Given the description of an element on the screen output the (x, y) to click on. 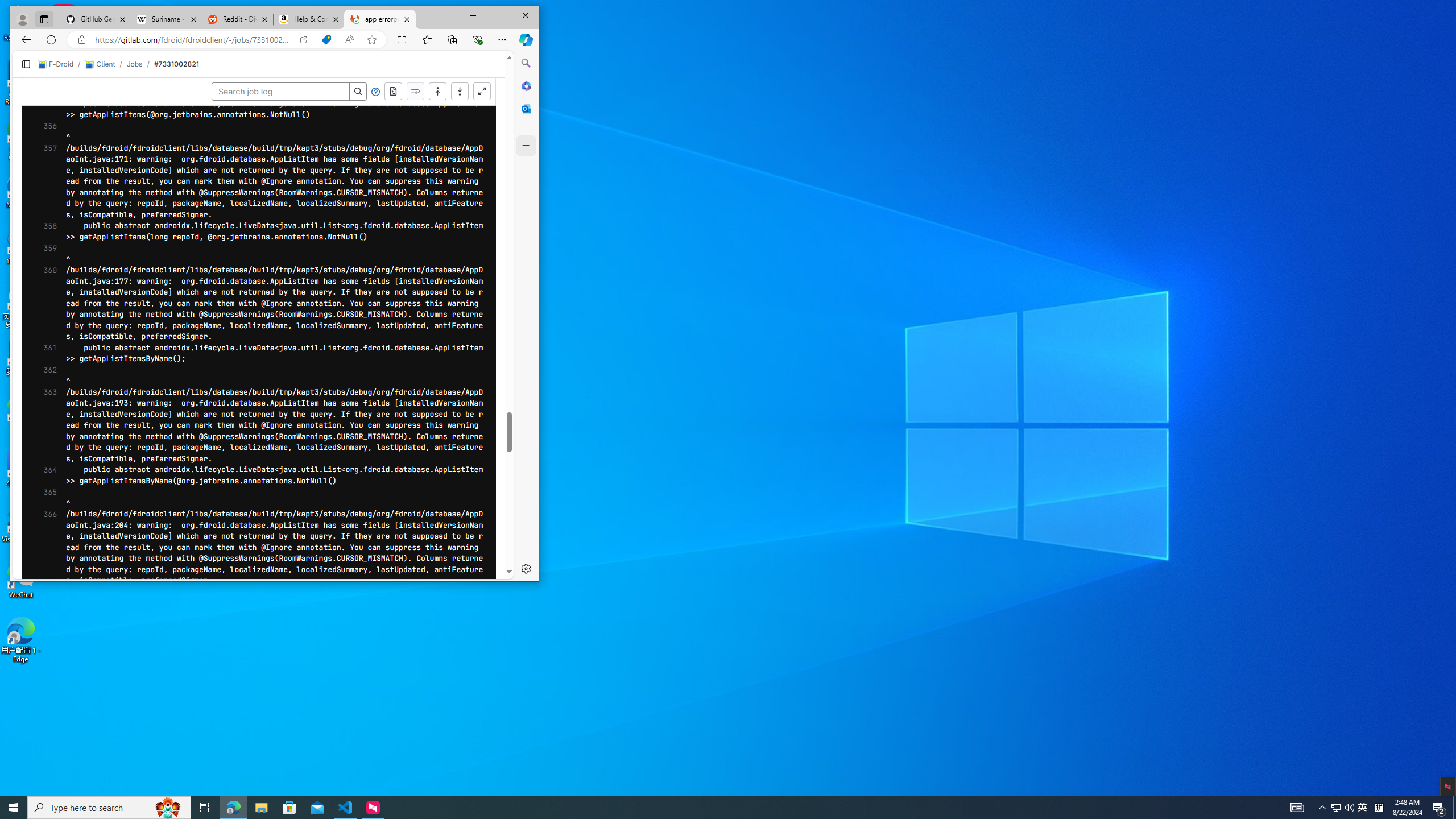
File Explorer (261, 807)
#7331002821 (300, 53)
Open in app (1220, 29)
402 (41, 166)
391 (41, 44)
Scroll to top (1335, 807)
Tray Input Indicator - Chinese (Simplified, China) (1349, 81)
432 (1378, 807)
445 (41, 499)
442 (41, 788)
Jobs (41, 610)
